Given the description of an element on the screen output the (x, y) to click on. 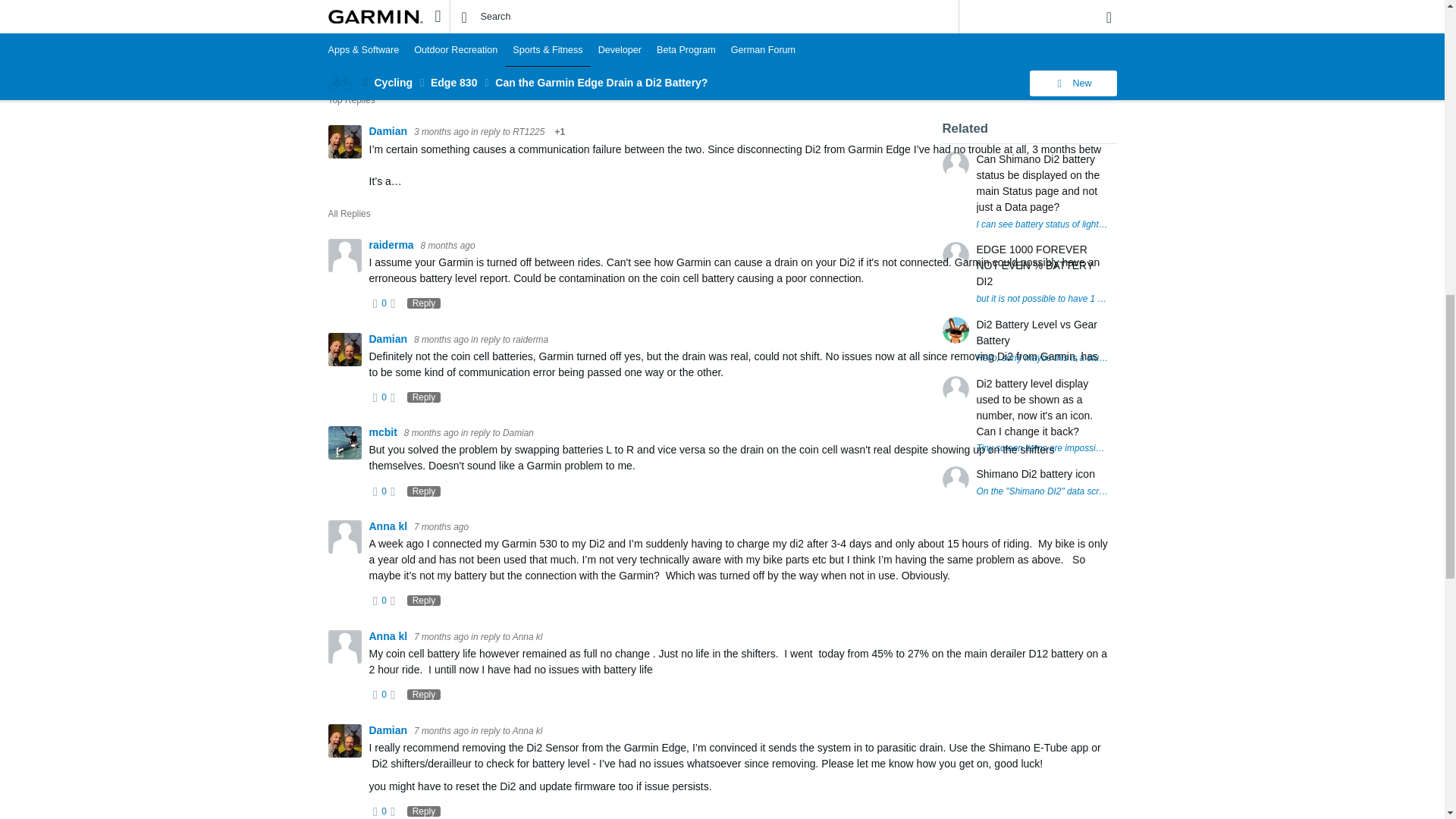
Damian (388, 131)
Reply (350, 69)
3 months ago (441, 131)
